Given the description of an element on the screen output the (x, y) to click on. 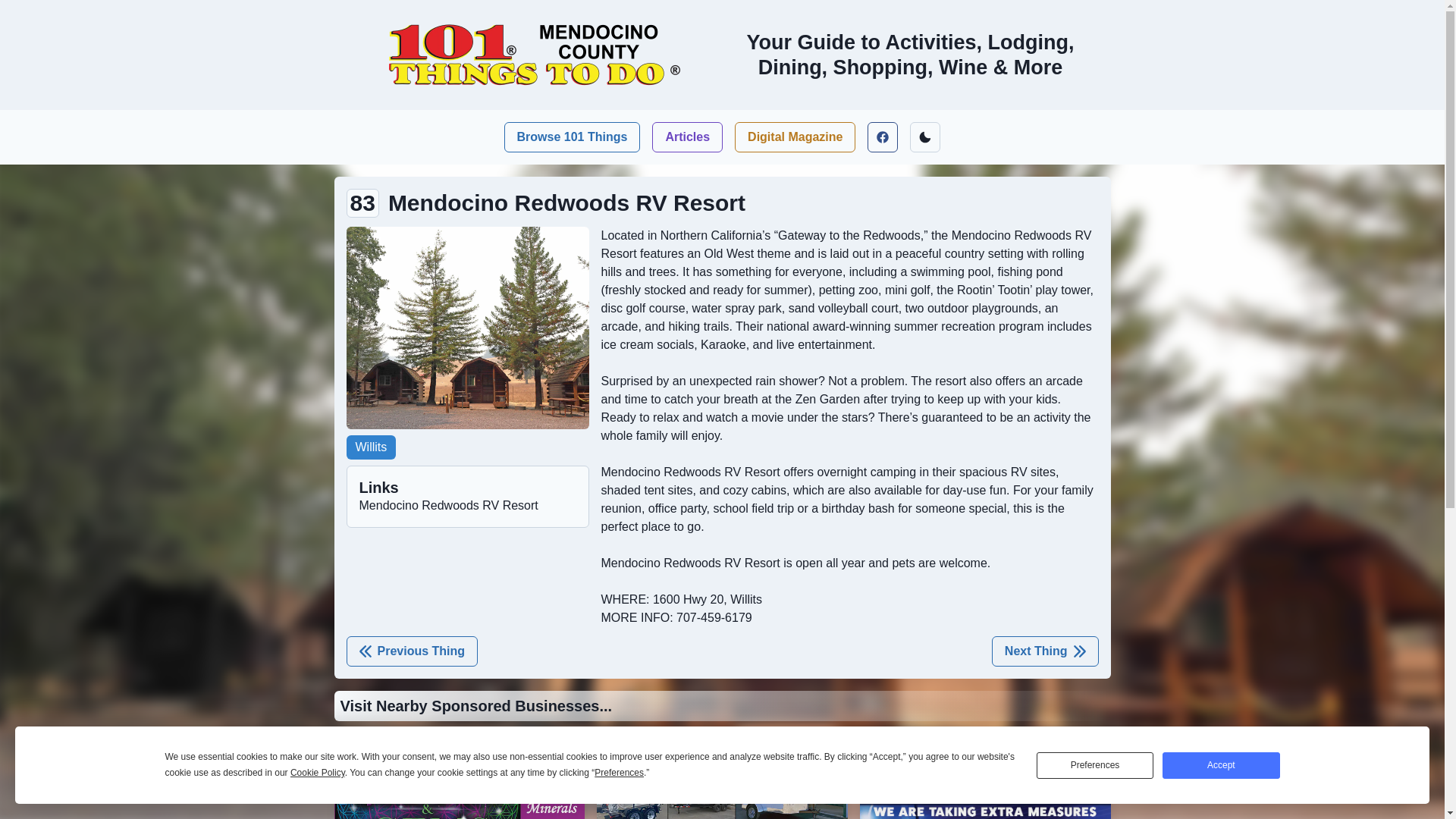
Preferences Element type: text (1094, 765)
Digital Magazine Element type: text (794, 137)
Next Thing Element type: text (1044, 651)
Willits Element type: text (370, 447)
Previous Thing Element type: text (411, 651)
Articles Element type: text (687, 137)
Mendocino Redwoods RV Resort Element type: text (448, 505)
Browse 101 Things Element type: text (572, 137)
Accept Element type: text (1220, 765)
